Given the description of an element on the screen output the (x, y) to click on. 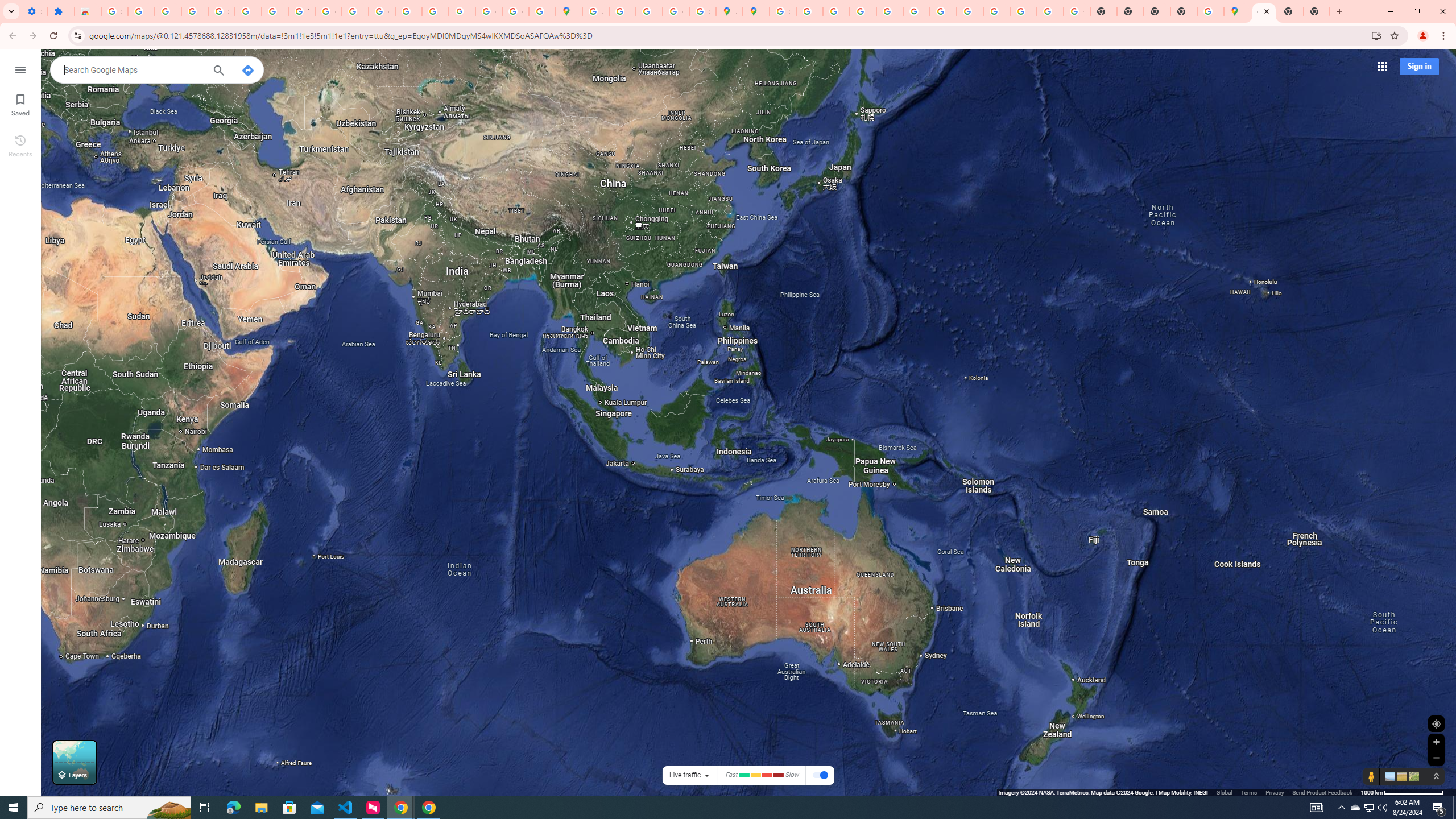
New Tab (1290, 11)
Install Google Maps (1376, 35)
Reviews: Helix Fruit Jump Arcade Game (87, 11)
Global (1224, 792)
Google Account (275, 11)
